Given the description of an element on the screen output the (x, y) to click on. 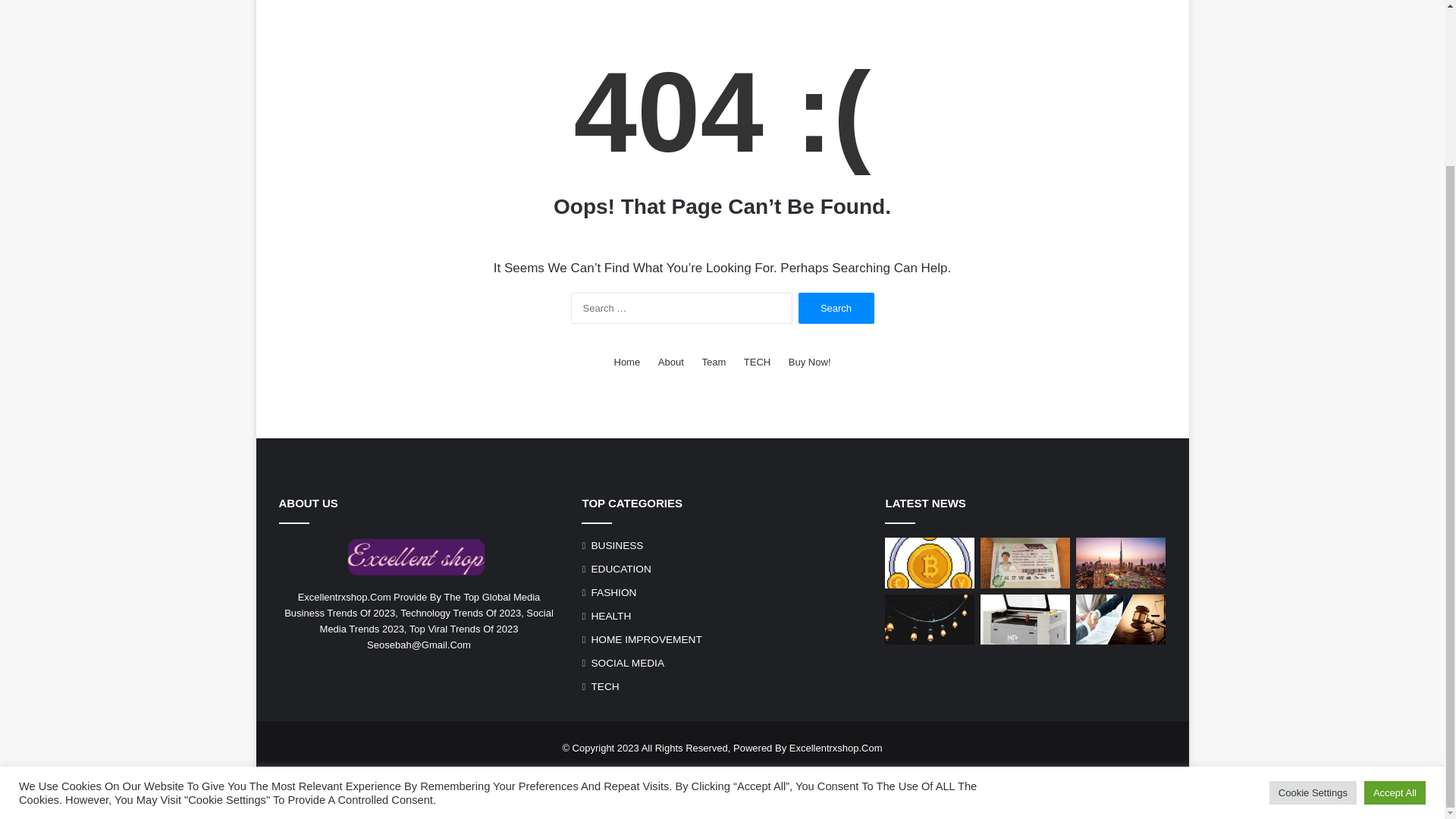
Buy Now! (810, 361)
HOME IMPROVEMENT (646, 639)
Team (713, 772)
Team (713, 361)
HEALTH (610, 616)
BUSINESS (617, 545)
Buy now! (810, 361)
FASHION (613, 592)
SOCIAL MEDIA (627, 662)
TECH (757, 361)
